Given the description of an element on the screen output the (x, y) to click on. 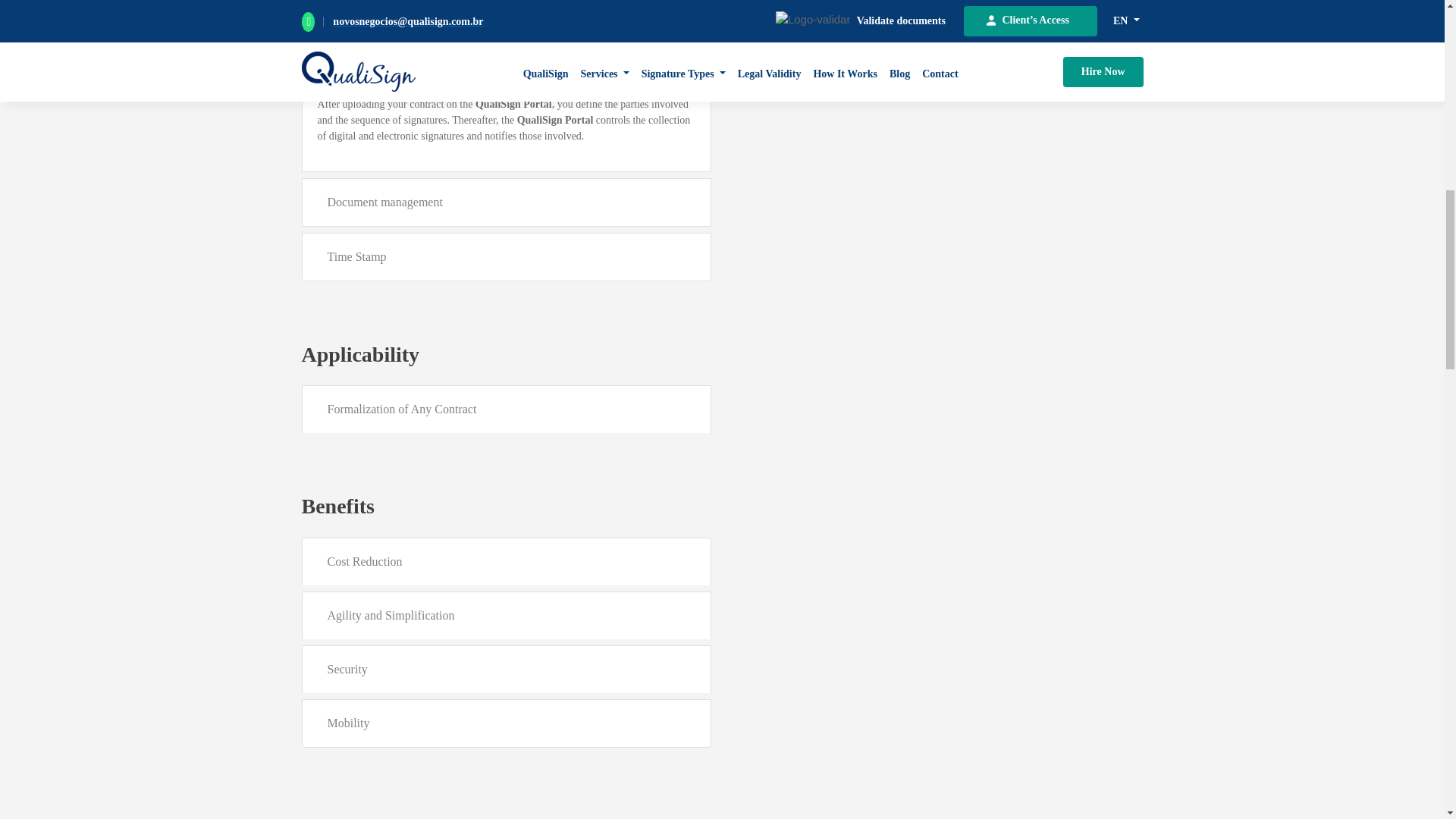
Time Stamp (505, 256)
Document management (505, 202)
Signature Workflow (505, 57)
